Given the description of an element on the screen output the (x, y) to click on. 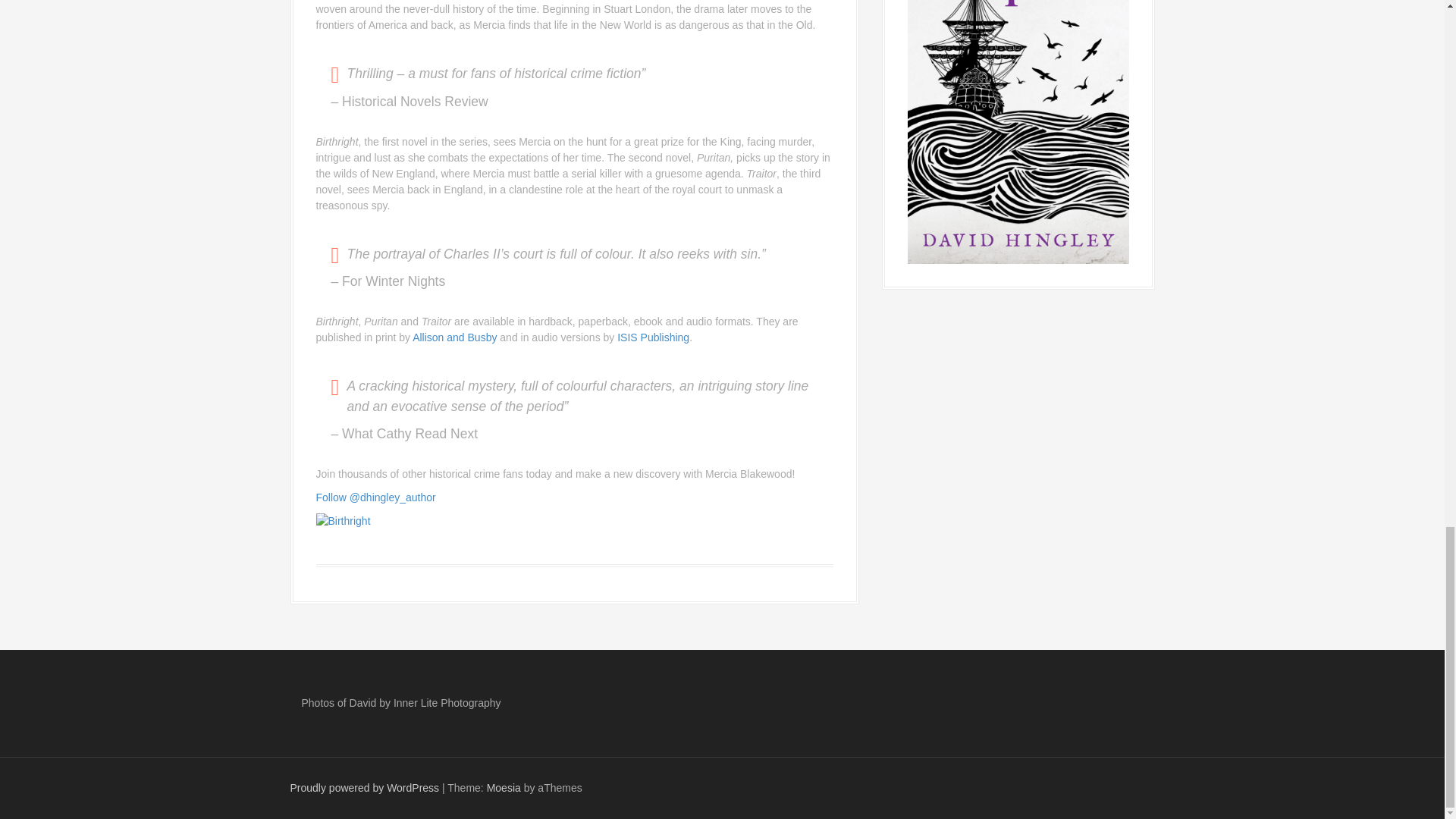
Inner Lite Photography (446, 702)
ISIS Publishing (652, 337)
Proudly powered by WordPress (364, 787)
Moesia (503, 787)
Allison and Busby (454, 337)
